Given the description of an element on the screen output the (x, y) to click on. 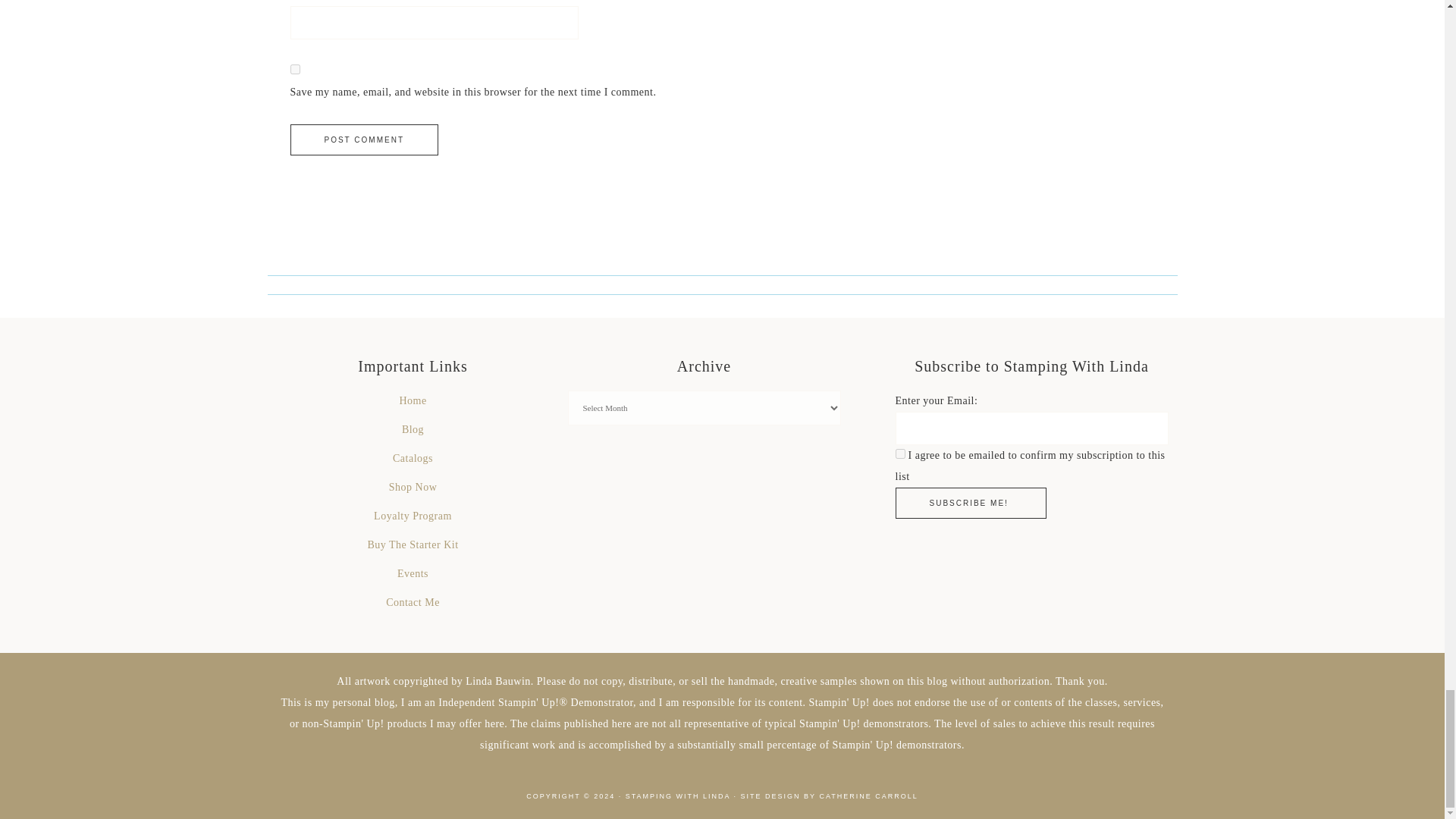
on (899, 453)
Subscribe me!  (970, 502)
yes (294, 69)
Post Comment (363, 139)
